Given the description of an element on the screen output the (x, y) to click on. 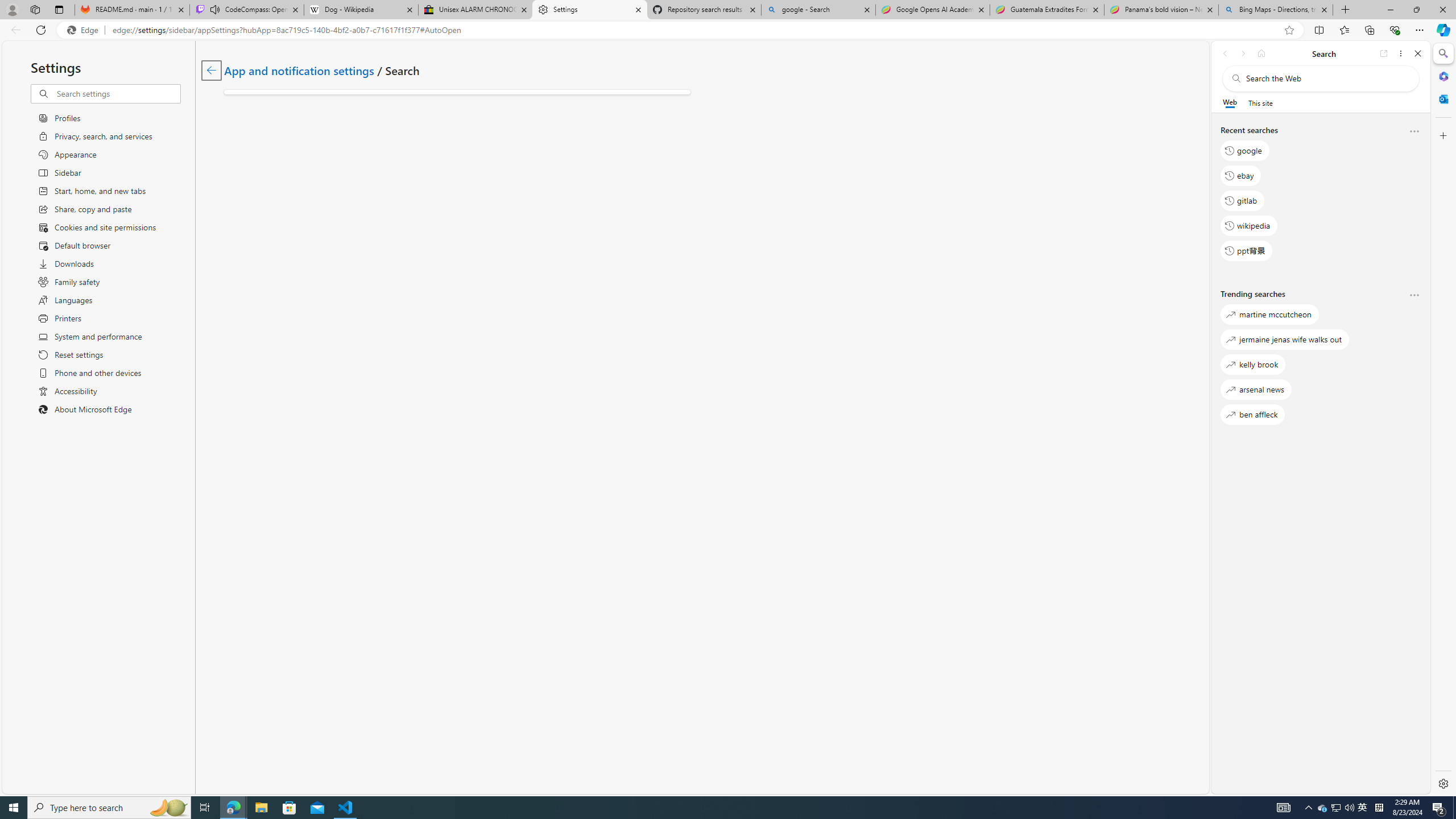
Edge (84, 29)
arsenal news (1255, 389)
